Given the description of an element on the screen output the (x, y) to click on. 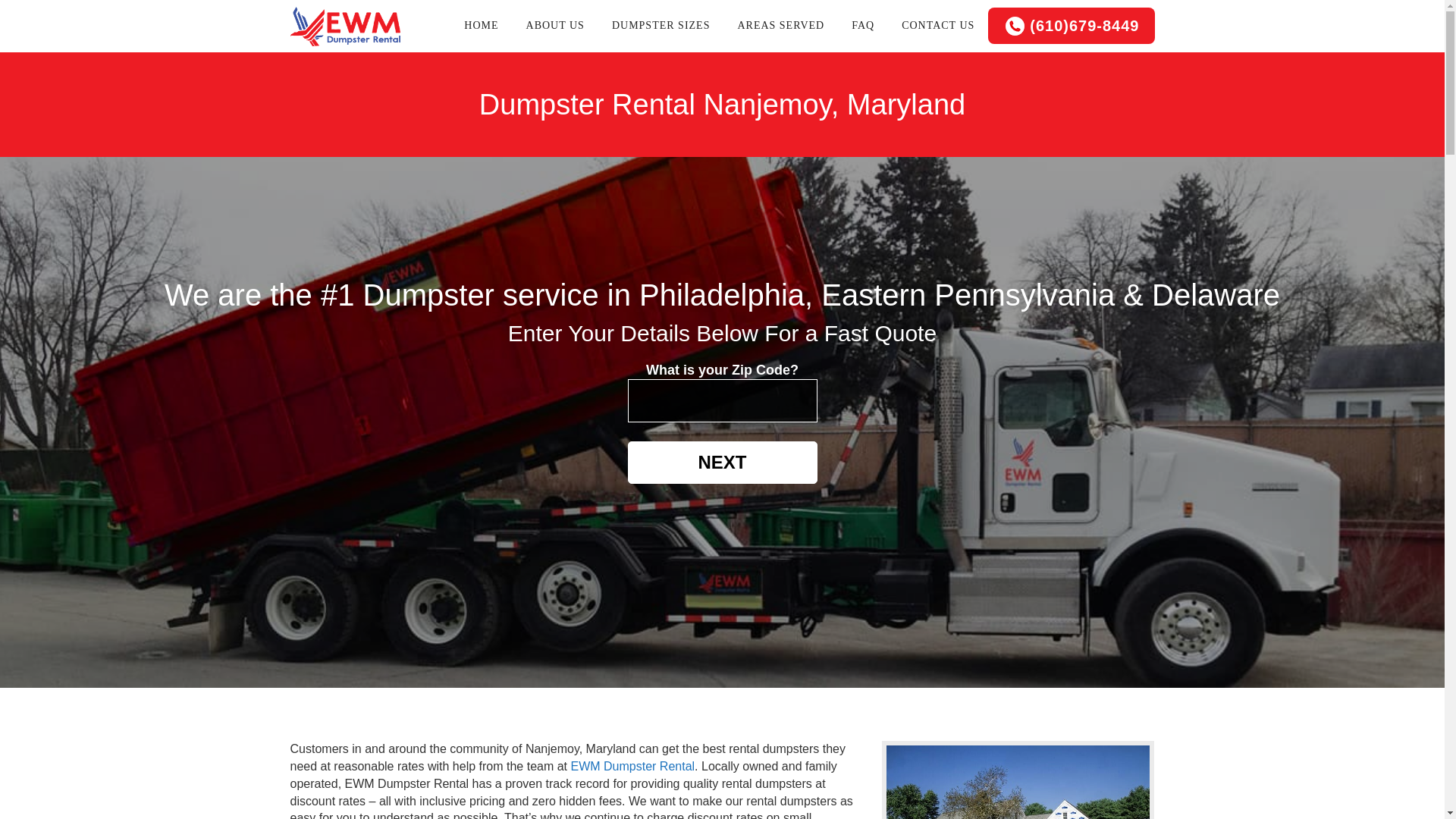
NEXT (721, 462)
DUMPSTER SIZES (660, 26)
CONTACT US (938, 26)
EWM Dumpster Rental (632, 766)
AREAS SERVED (780, 26)
ABOUT US (555, 26)
HOME (480, 26)
FAQ (863, 26)
